Given the description of an element on the screen output the (x, y) to click on. 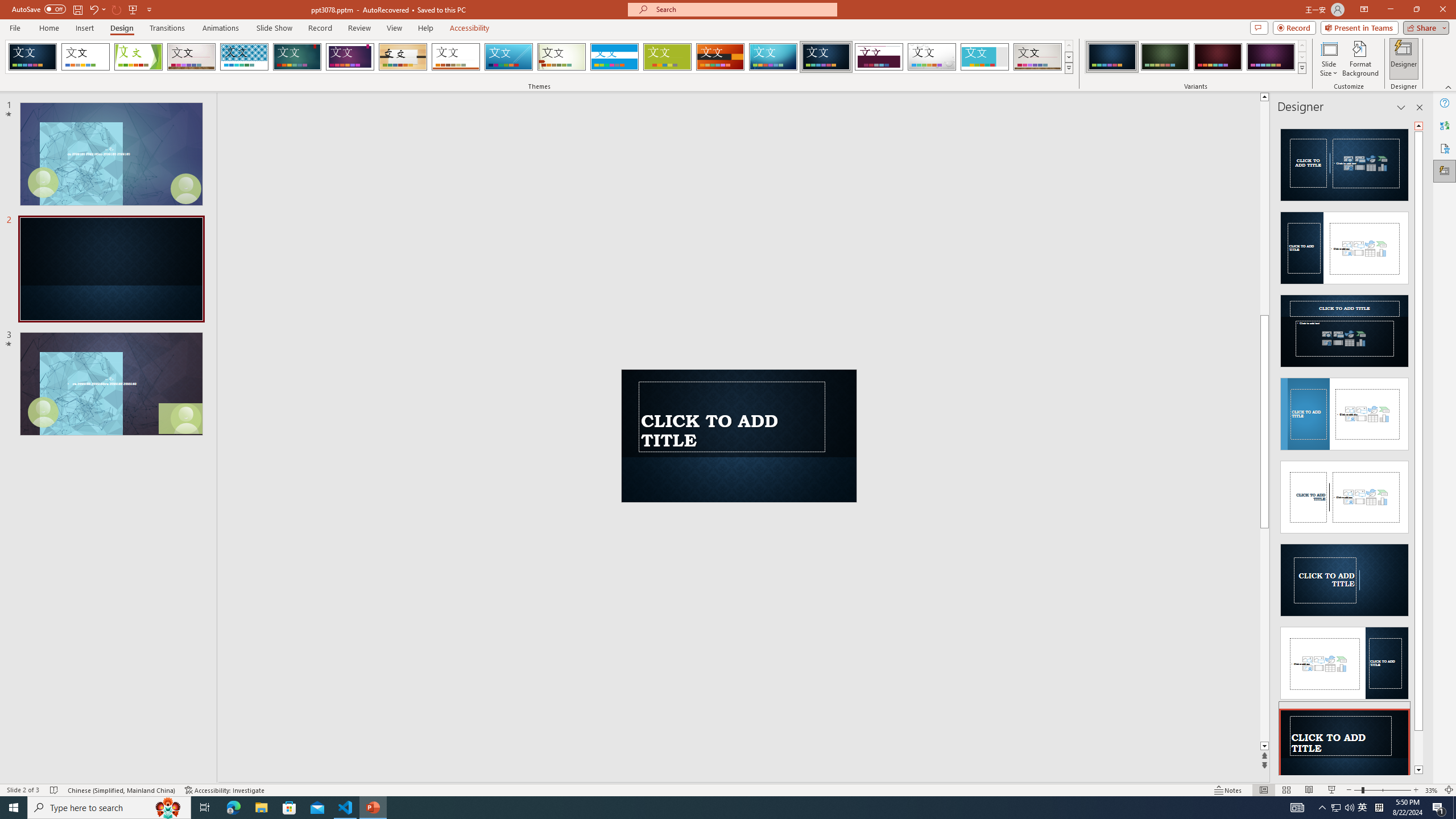
Damask Variant 1 (1112, 56)
Frame (984, 56)
AutomationID: SlideThemesGallery (539, 56)
Organic (403, 56)
